Given the description of an element on the screen output the (x, y) to click on. 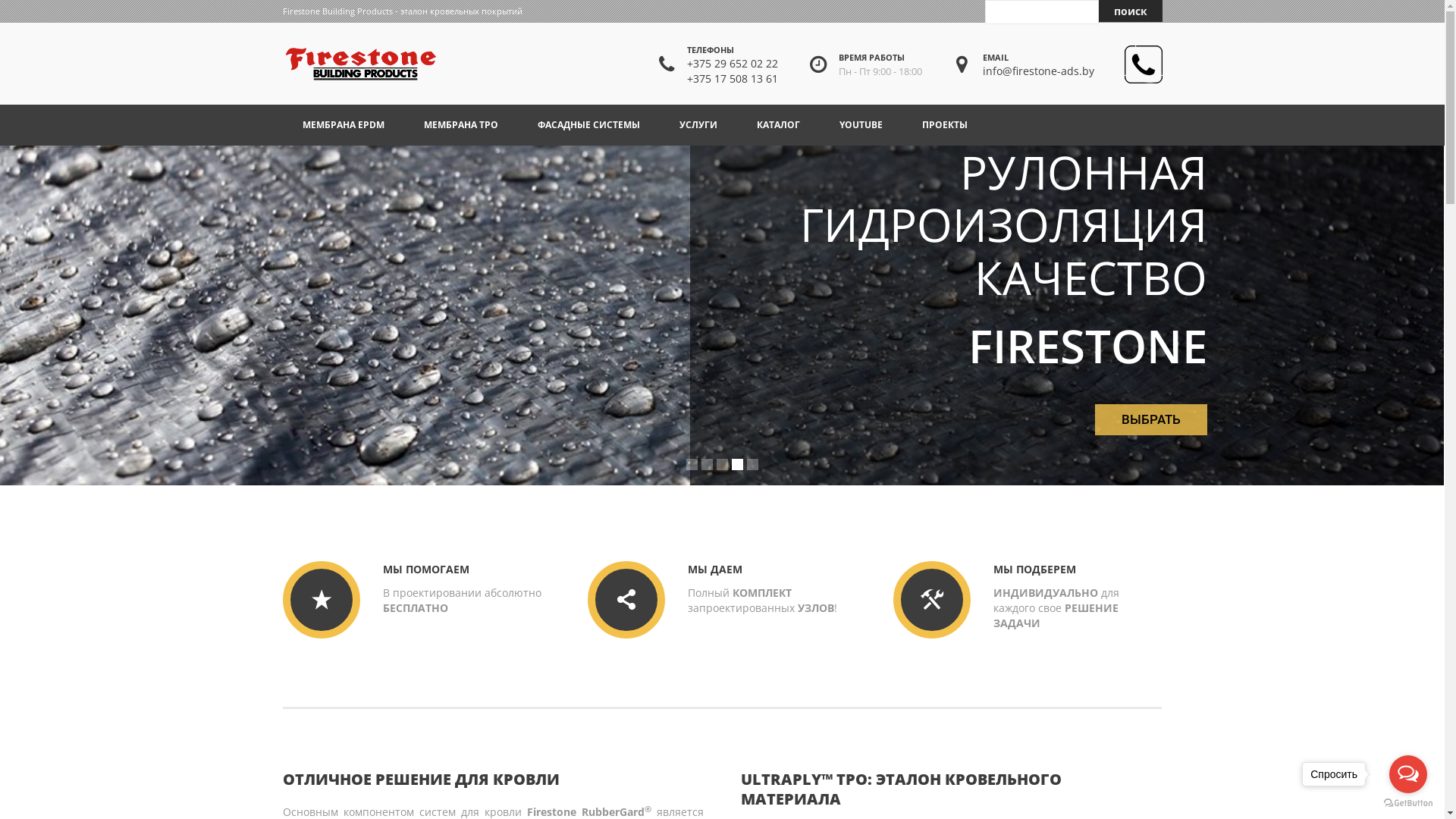
YOUTUBE Element type: text (859, 124)
info@firestone-ads.by Element type: text (1038, 70)
+375 17 508 13 61 Element type: text (732, 78)
+375 29 652 02 22 Element type: text (732, 63)
